Given the description of an element on the screen output the (x, y) to click on. 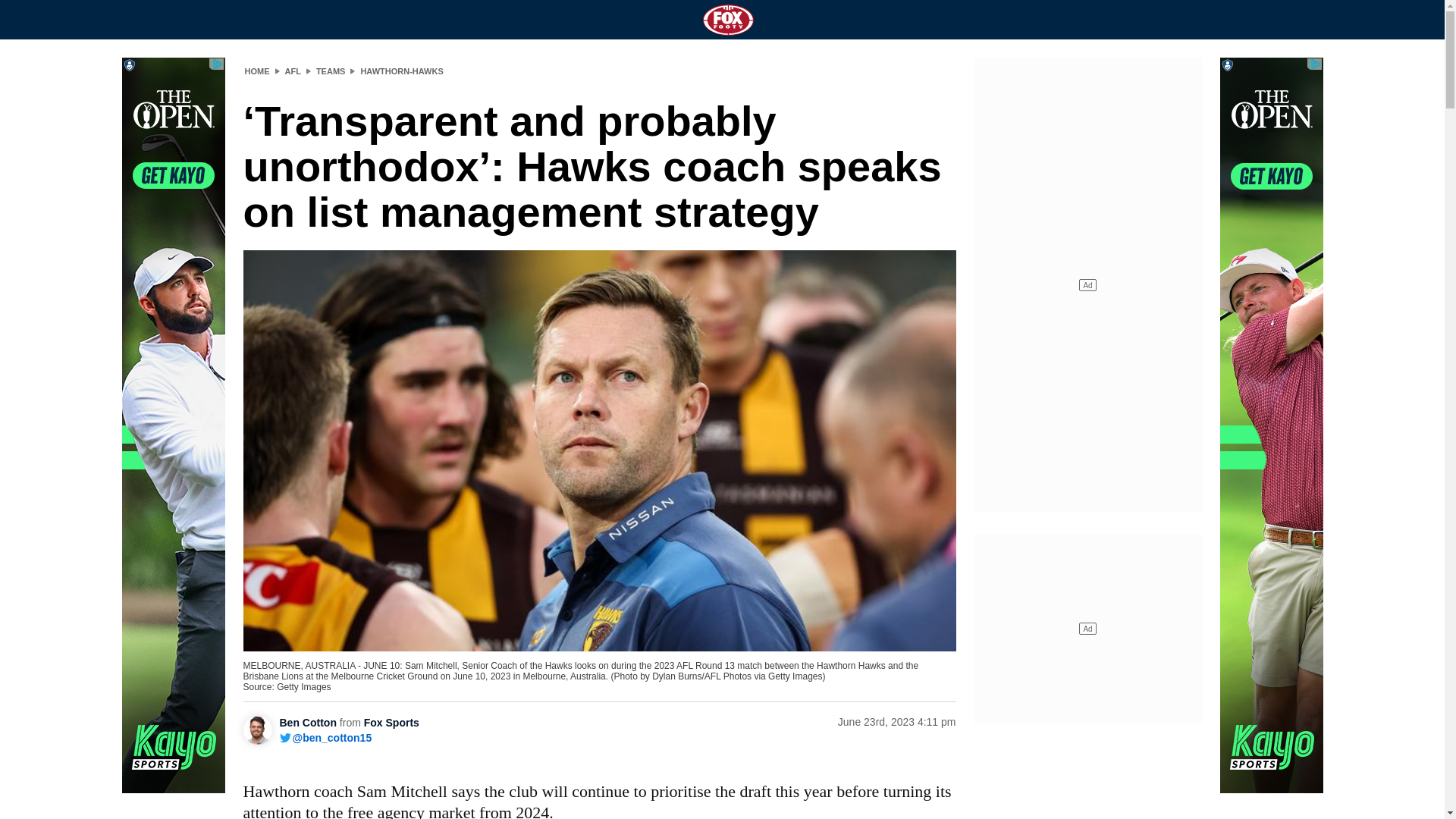
HAWTHORN-HAWKS (401, 71)
TEAMS (330, 71)
AFL (292, 71)
HOME (256, 71)
